Given the description of an element on the screen output the (x, y) to click on. 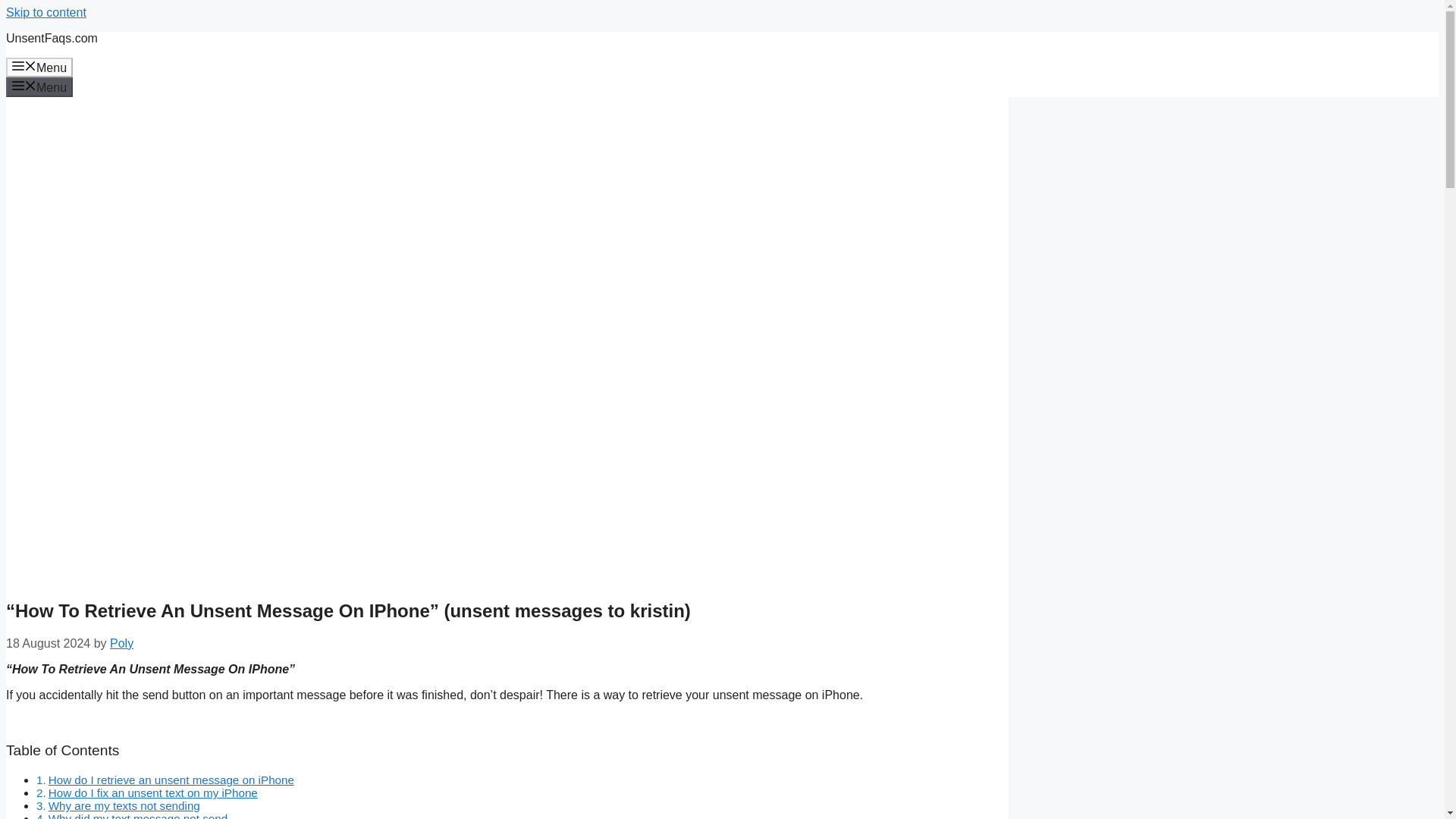
Skip to content (45, 11)
UnsentFaqs.com (51, 38)
How do I retrieve an unsent message on iPhone (171, 779)
Why are my texts not sending (124, 805)
How do I retrieve an unsent message on iPhone (171, 779)
Why are my texts not sending (124, 805)
Menu (38, 86)
Menu (38, 66)
How do I fix an unsent text on my iPhone (152, 792)
Poly (121, 643)
